Given the description of an element on the screen output the (x, y) to click on. 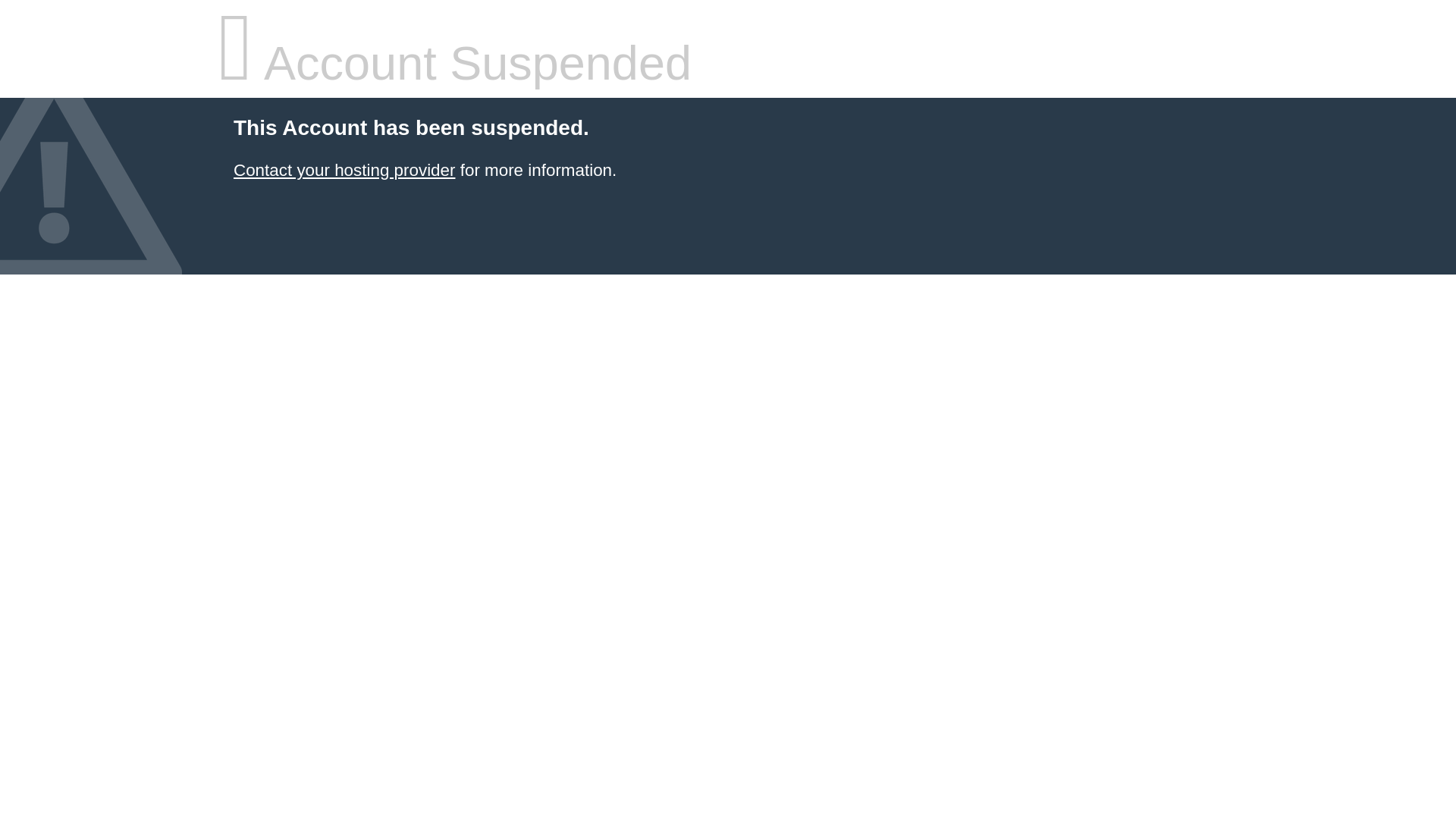
Contact your hosting provider (343, 169)
